Given the description of an element on the screen output the (x, y) to click on. 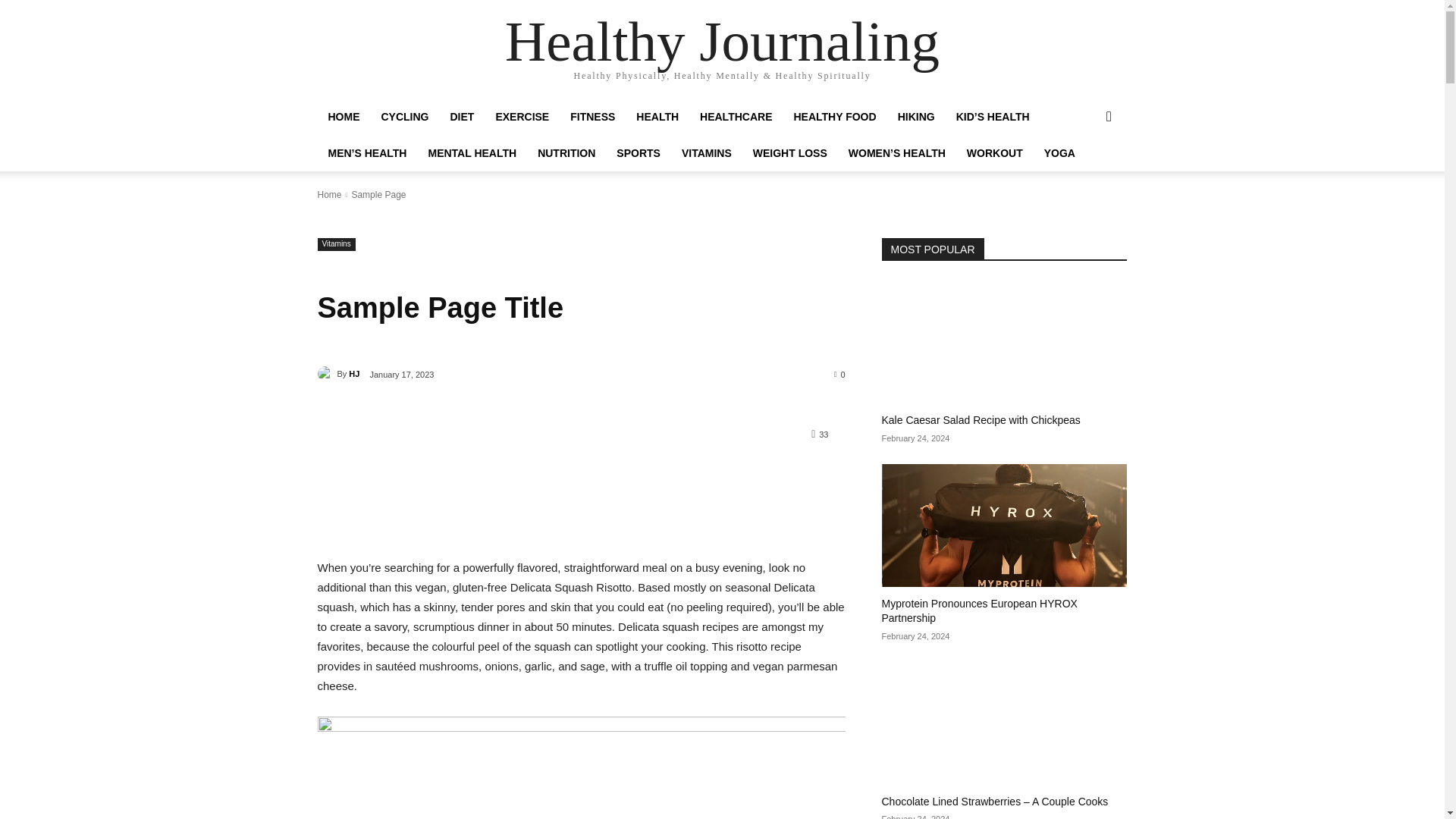
HEALTHY FOOD (834, 116)
EXERCISE (521, 116)
Kale Caesar Salad Recipe with Chickpeas (980, 419)
CYCLING (404, 116)
FITNESS (592, 116)
HIKING (915, 116)
HJ (326, 373)
Kale Caesar Salad Recipe with Chickpeas (1003, 341)
Healthy Journaling (722, 41)
HEALTHCARE (735, 116)
